Given the description of an element on the screen output the (x, y) to click on. 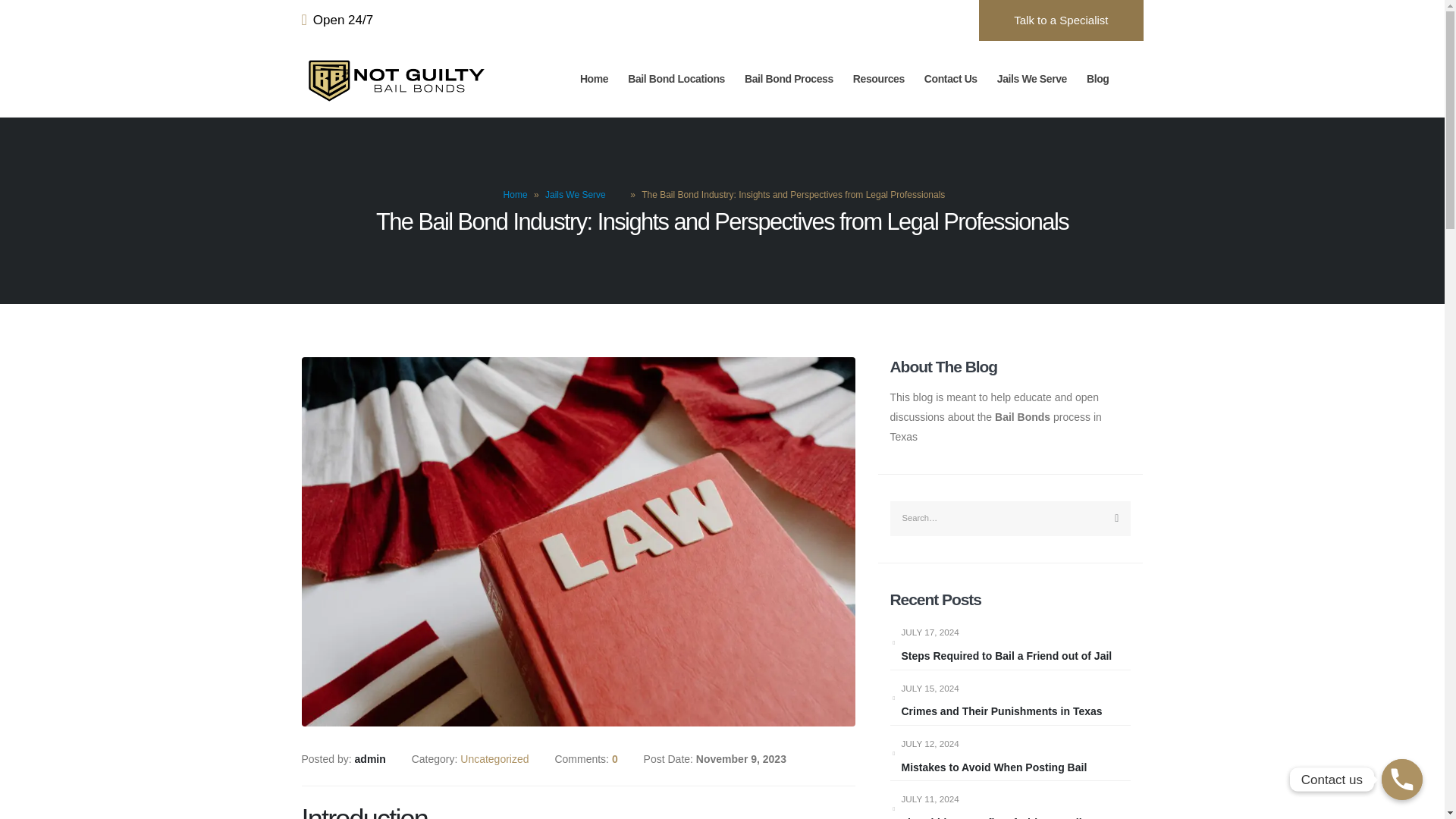
Talk to a Specialist (1060, 20)
Jails We Serve (1034, 78)
Resources (880, 78)
Contact Us (952, 78)
Bail Bond Process (790, 78)
Bail Bond Locations (678, 78)
